Given the description of an element on the screen output the (x, y) to click on. 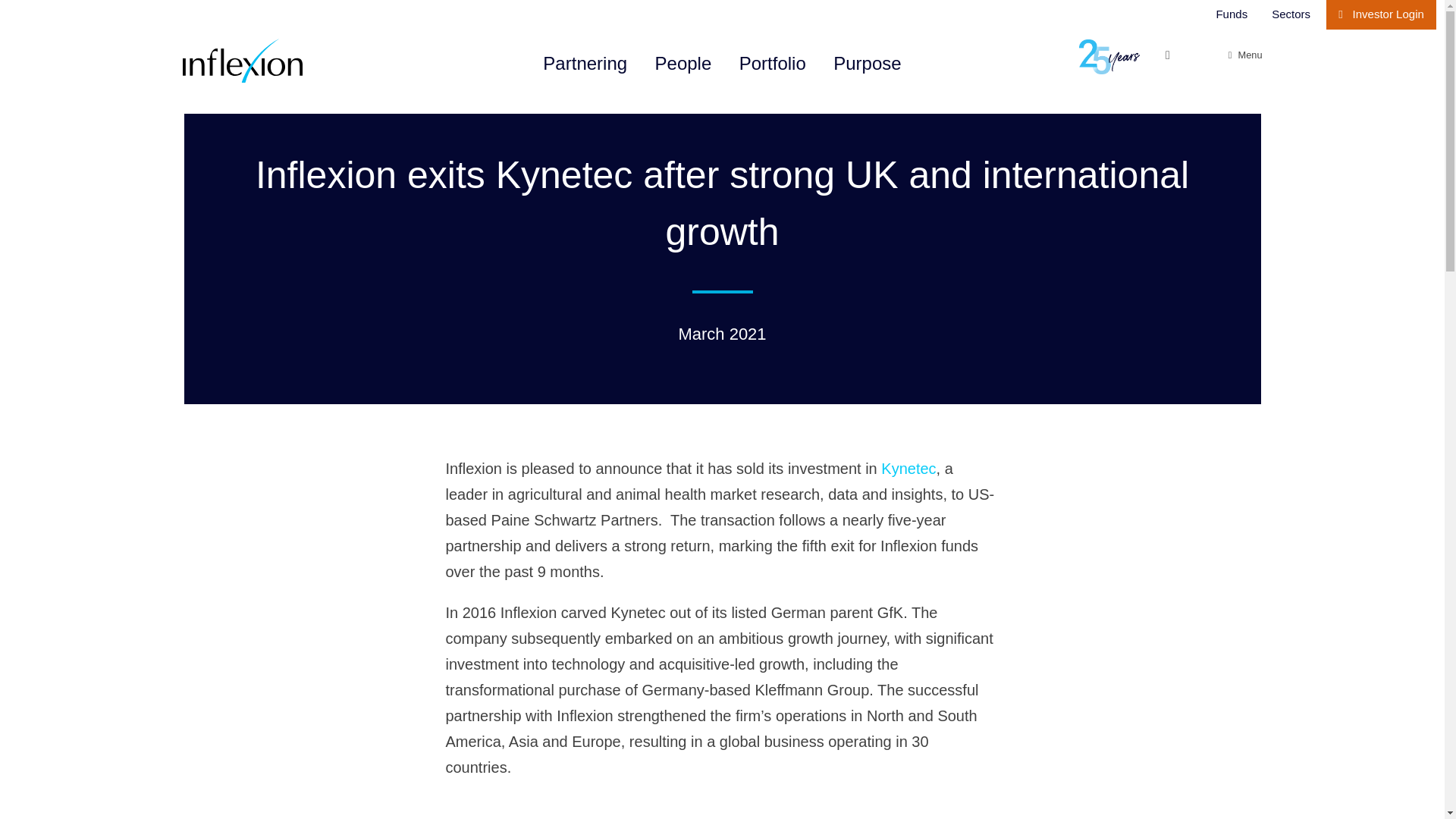
Purpose (866, 63)
Funds (1231, 14)
People (683, 63)
Sectors (1290, 14)
Portfolio (772, 63)
Kynetec (908, 468)
Investor Login (1380, 14)
Inflexion (289, 60)
Partnering (585, 63)
